Given the description of an element on the screen output the (x, y) to click on. 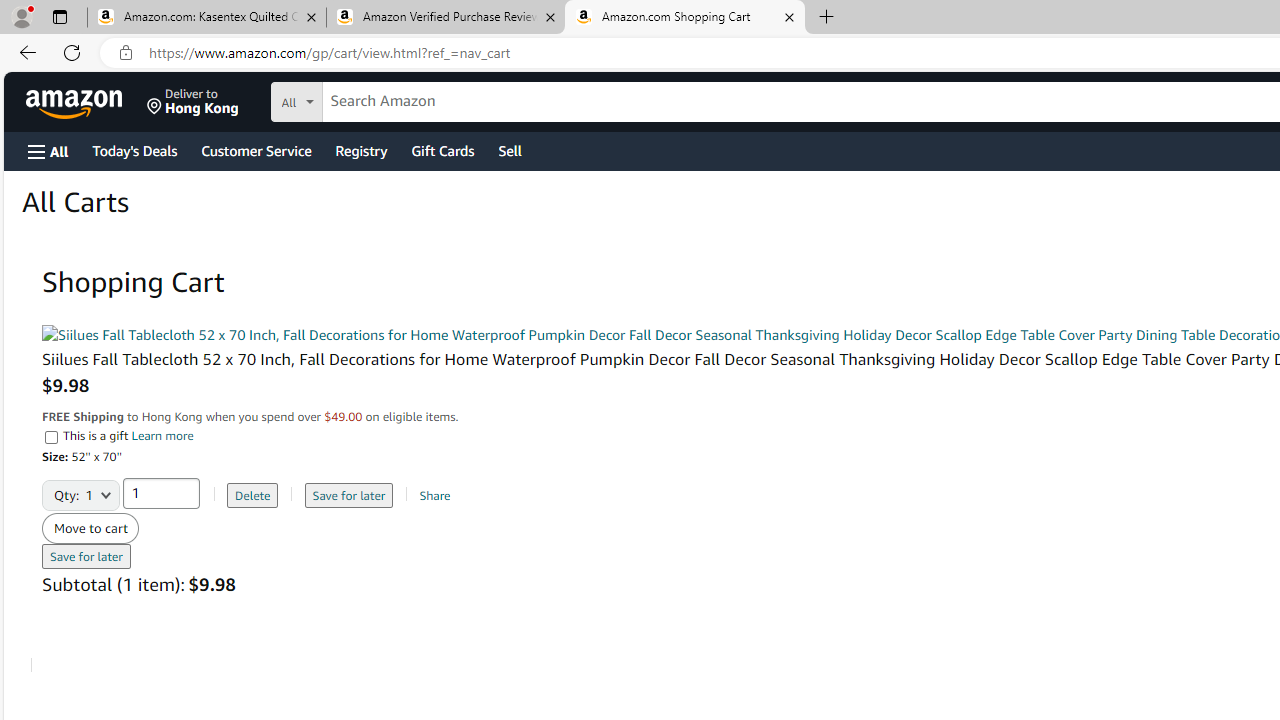
Qty: Quantity (81, 487)
Registry (360, 150)
Amazon (76, 101)
Amazon Verified Purchase Reviews - Amazon Customer Service (445, 17)
Quantity (161, 492)
Customer Service (256, 150)
Open Menu (48, 151)
Amazon.com Shopping Cart (684, 17)
